Given the description of an element on the screen output the (x, y) to click on. 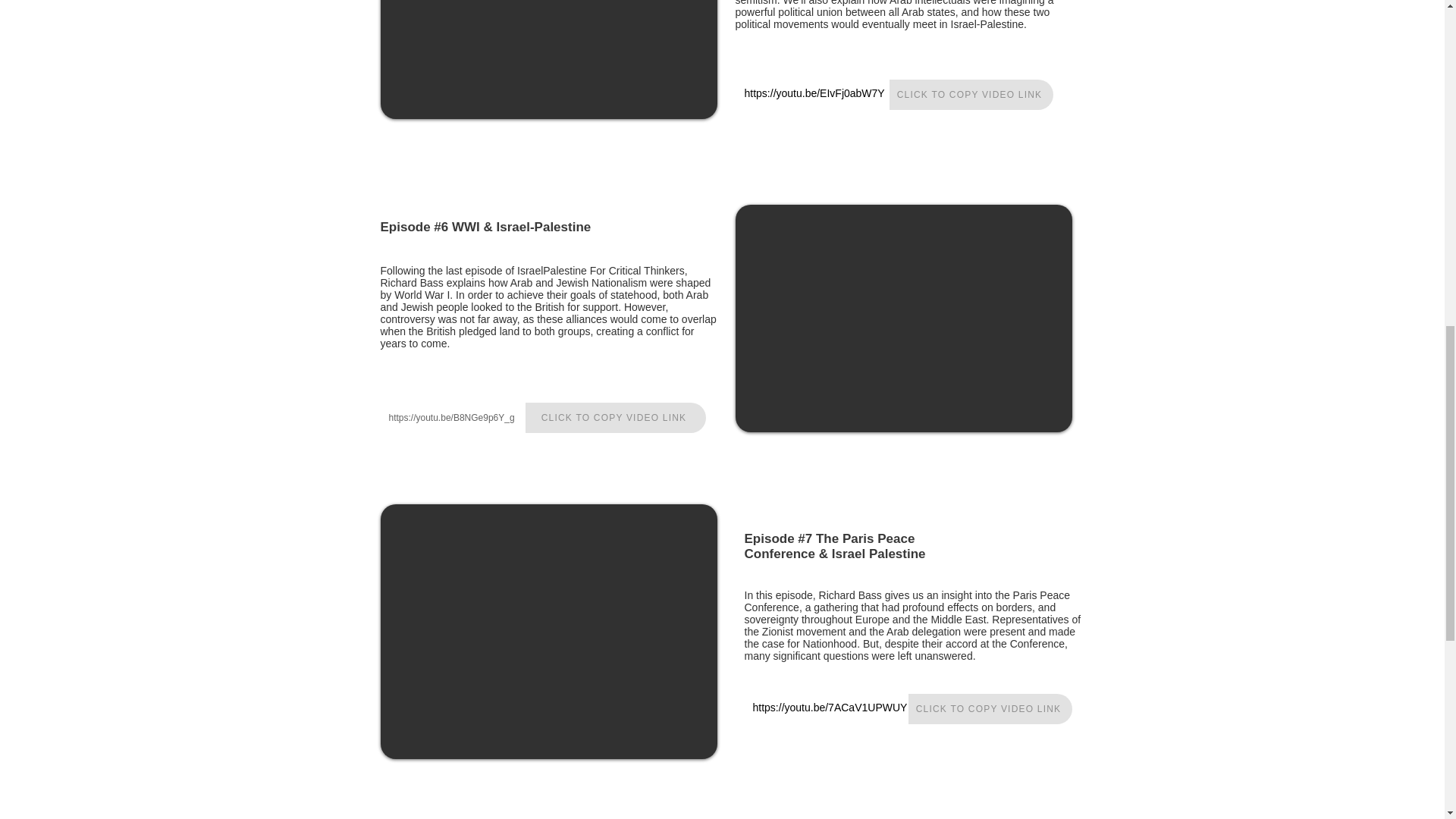
CLICK TO COPY VIDEO LINK (970, 94)
CLICK TO COPY VIDEO LINK (989, 708)
External YouTube (548, 59)
CLICK TO COPY VIDEO LINK (614, 417)
External YouTube (903, 318)
External YouTube (548, 631)
